Given the description of an element on the screen output the (x, y) to click on. 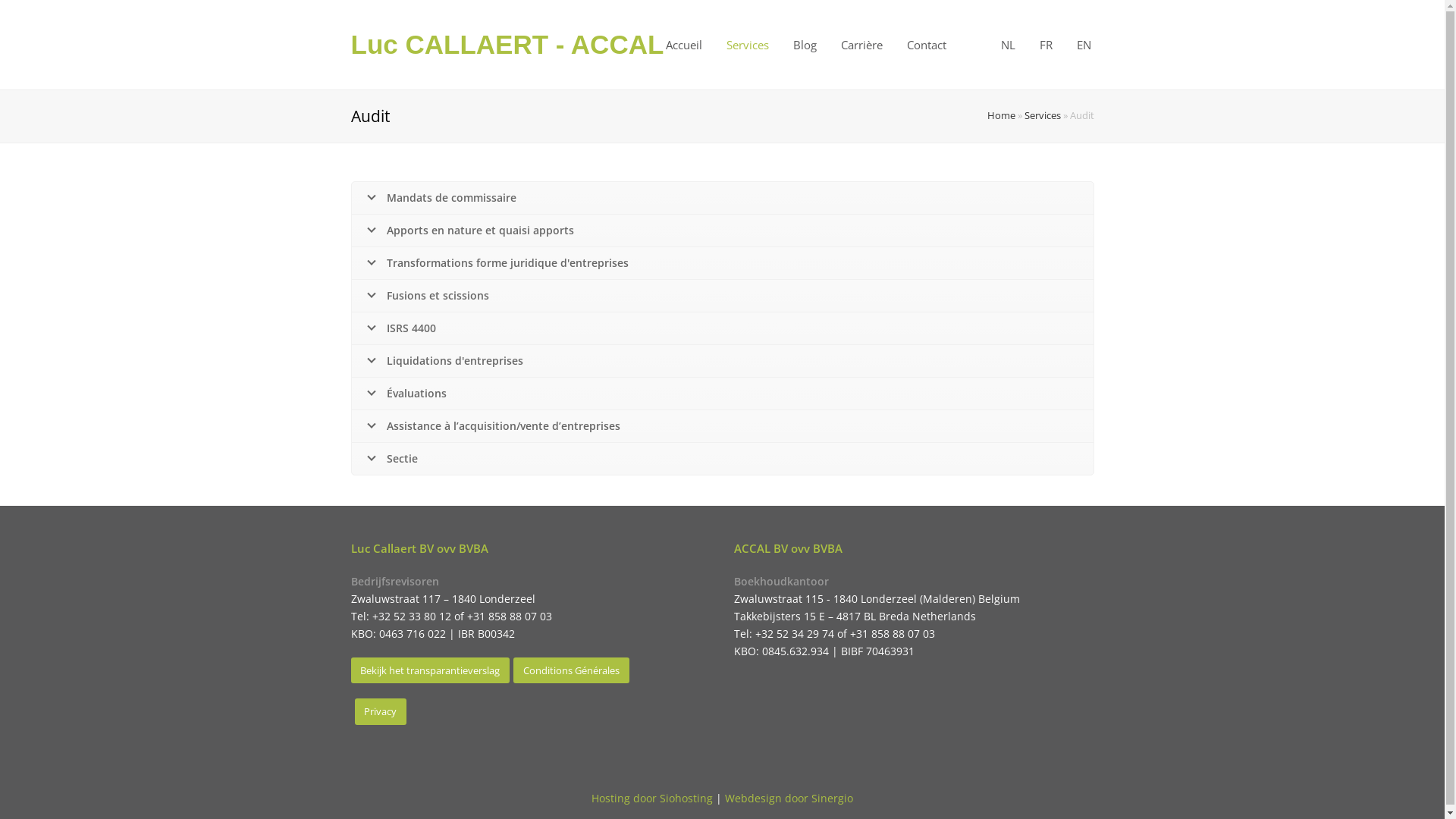
Transformations forme juridique d'entreprises Element type: text (722, 263)
Services Element type: text (747, 44)
ISRS 4400 Element type: text (722, 328)
Privacy Element type: text (380, 711)
NL Element type: text (1007, 44)
Accueil Element type: text (683, 44)
Luc CALLAERT - ACCAL Element type: text (506, 44)
Mandats de commissaire Element type: text (722, 197)
EN Element type: text (1083, 44)
Fusions et scissions Element type: text (722, 295)
Bekijk het transparantieverslag Element type: text (429, 670)
Liquidations d'entreprises Element type: text (722, 360)
Contact Element type: text (926, 44)
Apports en nature et quaisi apports Element type: text (722, 230)
Sectie Element type: text (722, 458)
Services Element type: text (1041, 115)
Blog Element type: text (804, 44)
FR Element type: text (1044, 44)
Hosting door Siohosting Element type: text (651, 797)
Webdesign door Sinergio Element type: text (788, 797)
Home Element type: text (1001, 115)
